Given the description of an element on the screen output the (x, y) to click on. 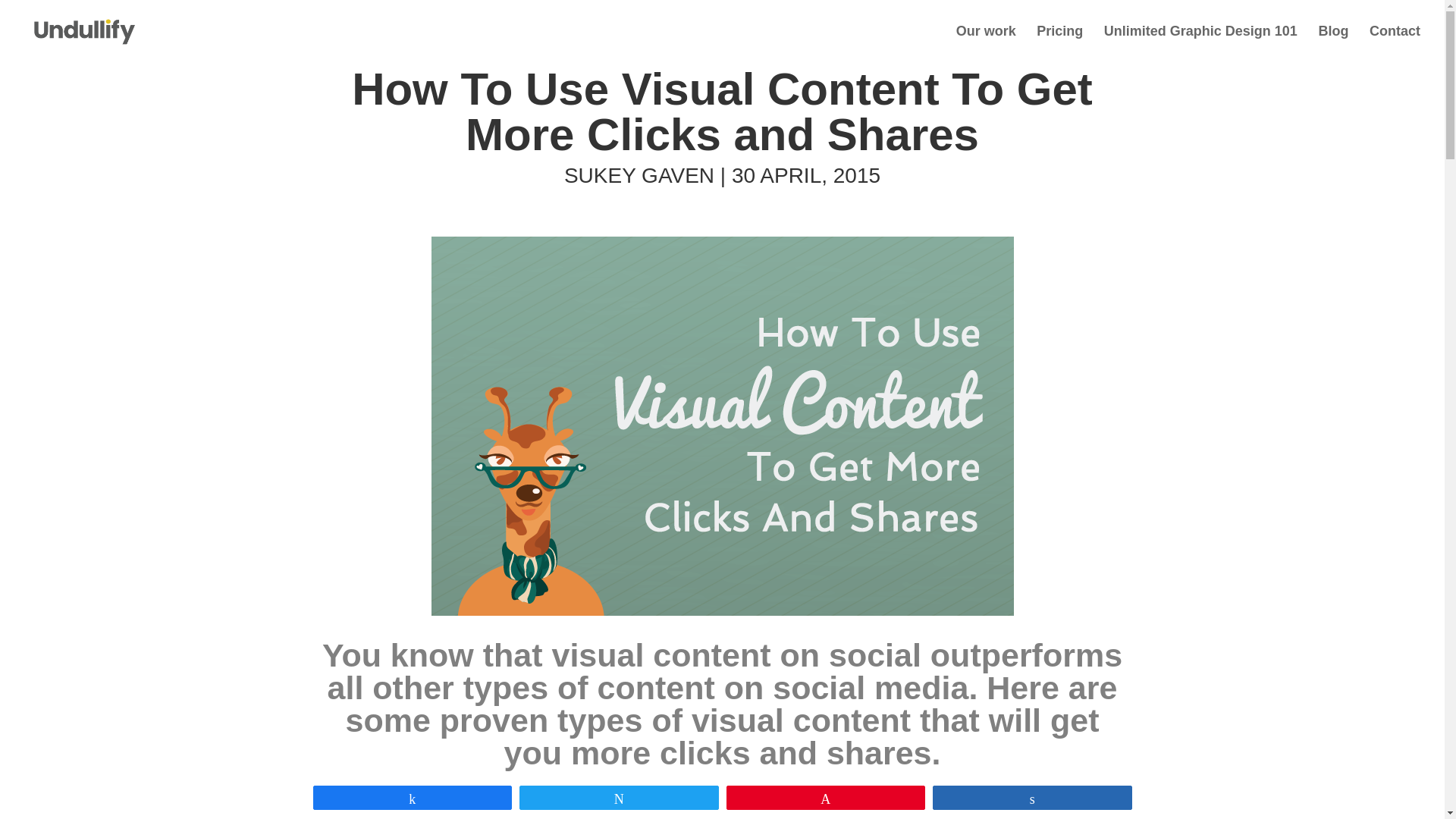
Nearly half (485, 814)
boost re-tweets (1048, 790)
Pricing (1059, 43)
Contact (1395, 43)
Unlimited Graphic Design 101 (1200, 43)
Our work (986, 43)
